Given the description of an element on the screen output the (x, y) to click on. 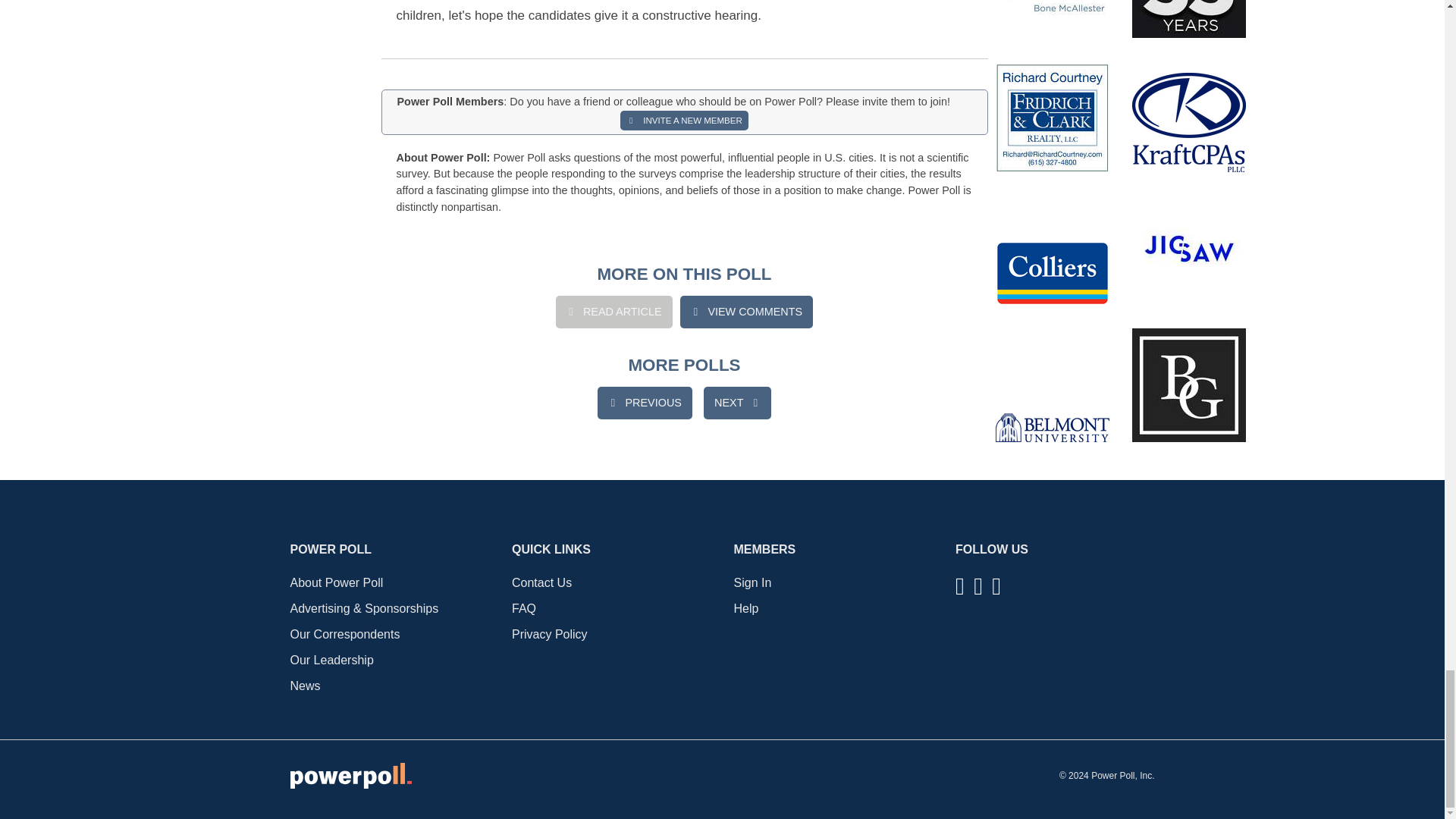
INVITE A NEW MEMBER (684, 120)
